Given the description of an element on the screen output the (x, y) to click on. 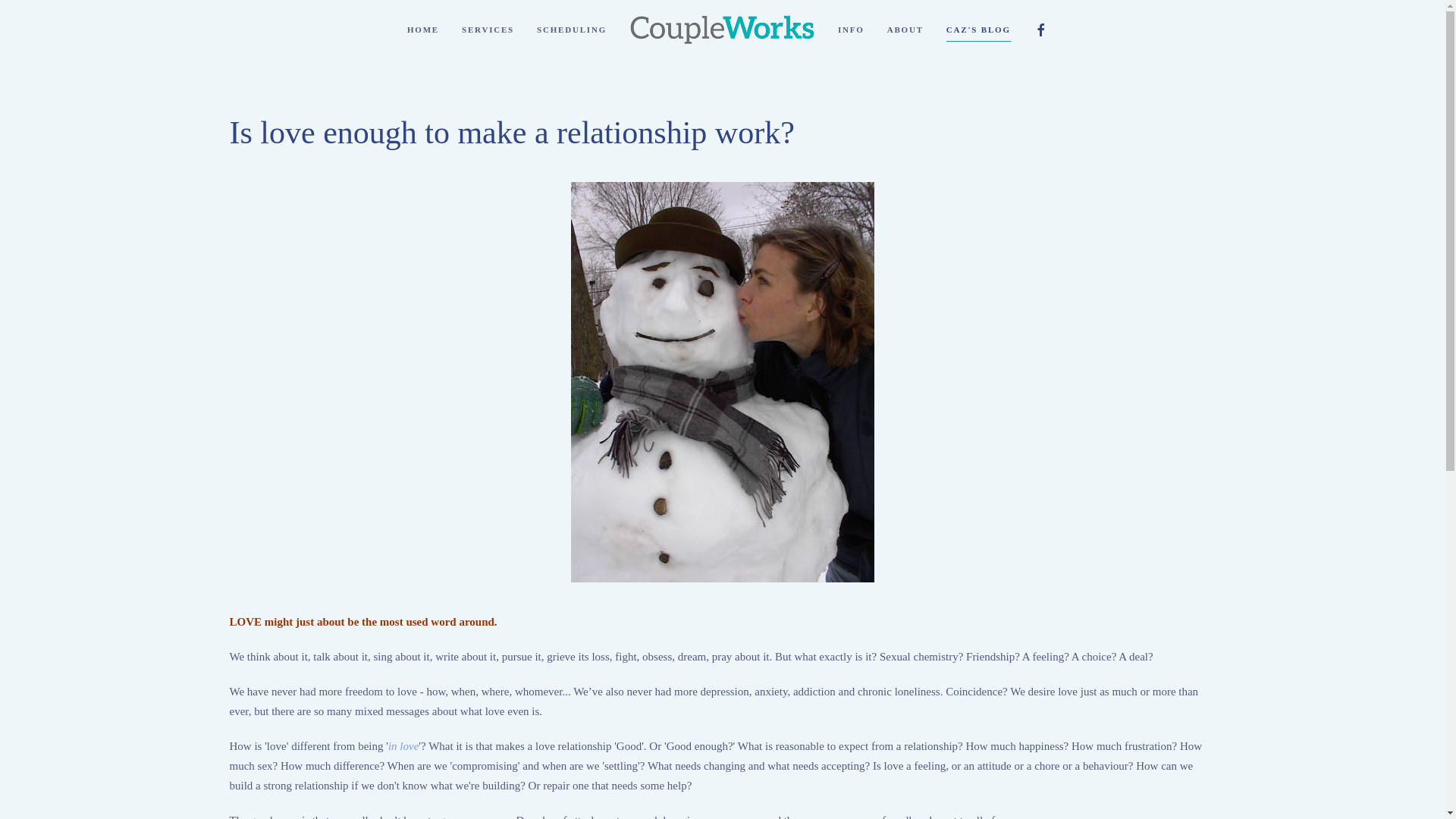
SERVICES Element type: text (487, 30)
HOME Element type: text (422, 30)
CAZ'S BLOG Element type: text (978, 30)
SCHEDULING Element type: text (571, 30)
ABOUT Element type: text (905, 30)
INFO Element type: text (850, 30)
